Given the description of an element on the screen output the (x, y) to click on. 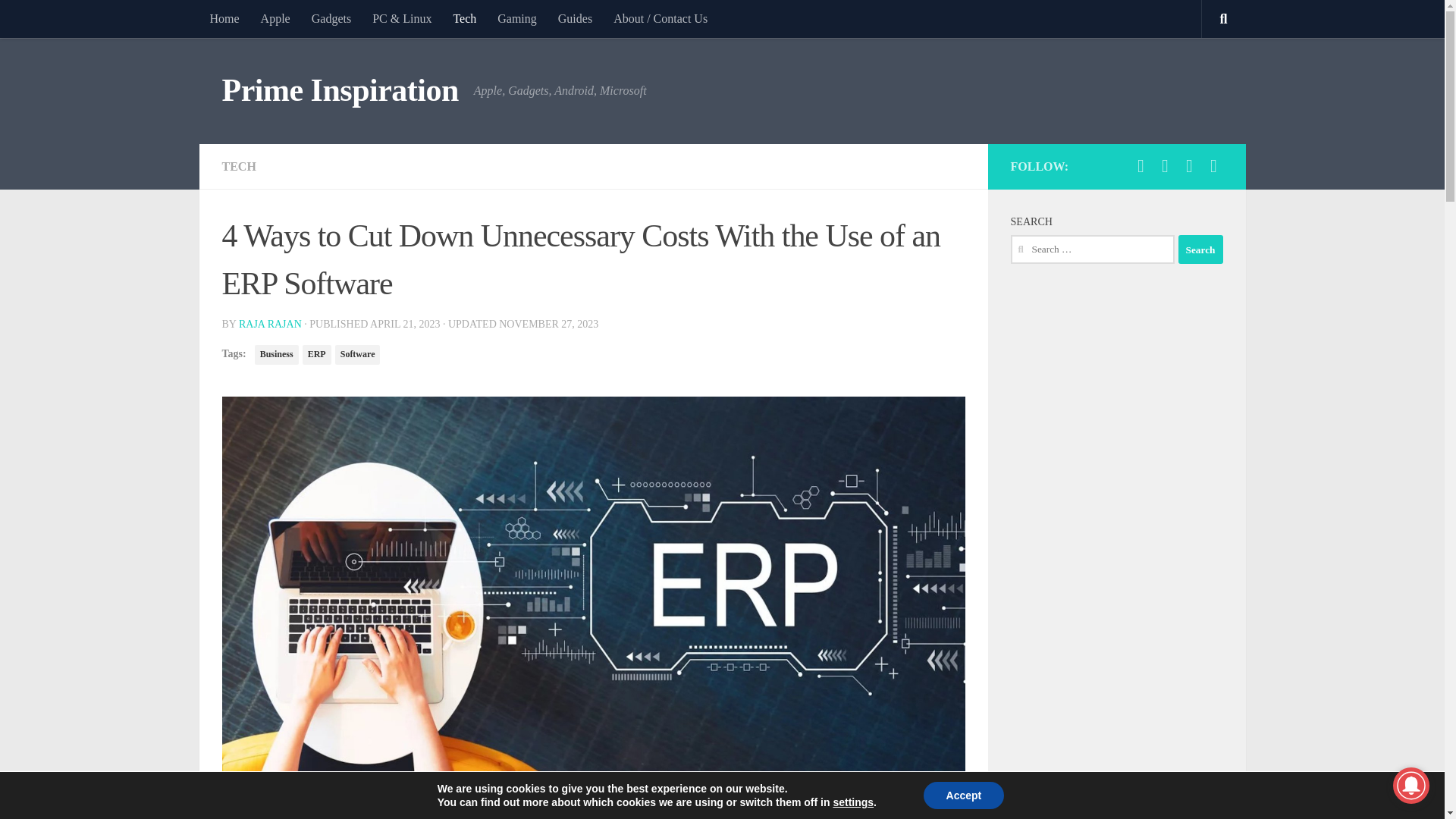
Search (1200, 249)
Apple (275, 18)
Search (1200, 249)
RAJA RAJAN (269, 324)
Business (276, 354)
Gaming (516, 18)
Guides (574, 18)
Home (223, 18)
Prime Inspiration (339, 90)
Terilium (405, 794)
About (659, 18)
Software (357, 354)
Skip to content (59, 20)
Gadgets (331, 18)
ERP (316, 354)
